Given the description of an element on the screen output the (x, y) to click on. 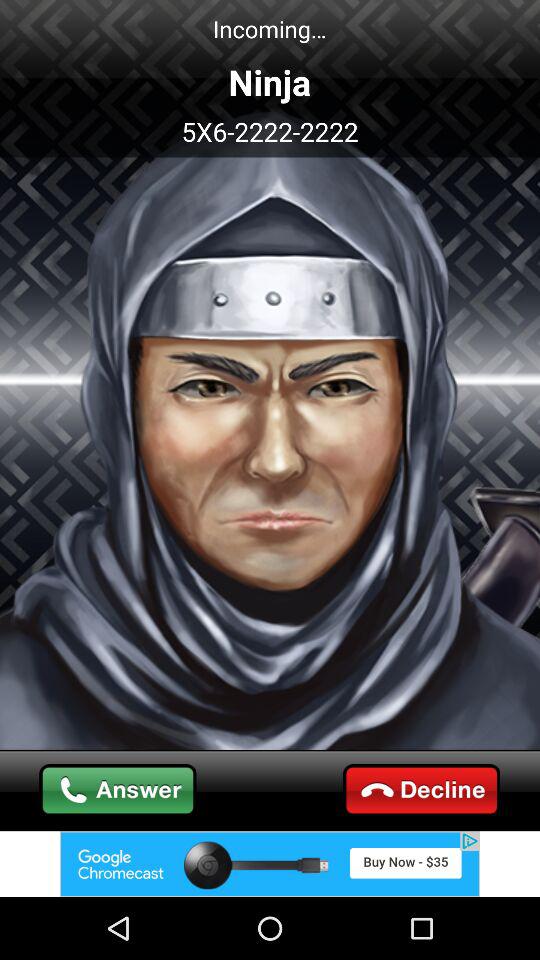
decline the call (421, 790)
